Given the description of an element on the screen output the (x, y) to click on. 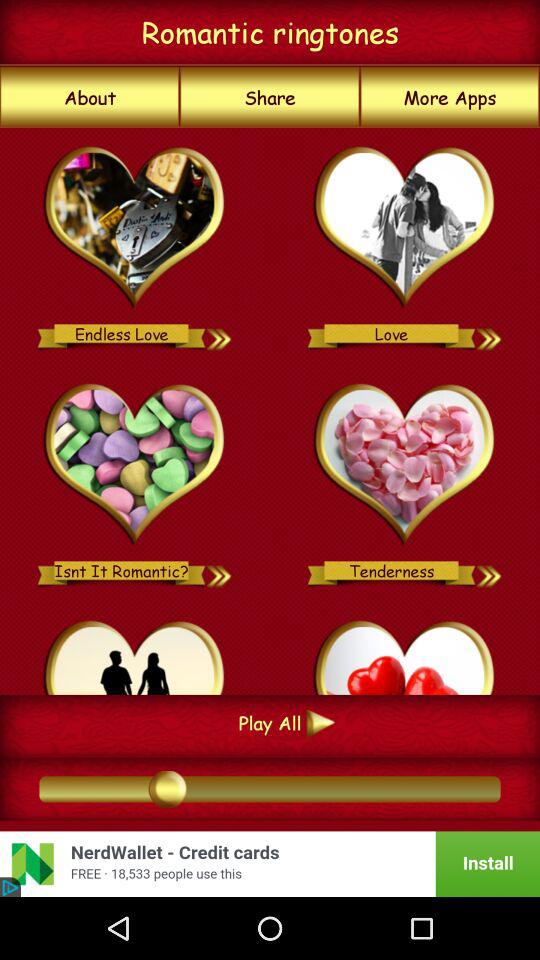
endless love (134, 228)
